Given the description of an element on the screen output the (x, y) to click on. 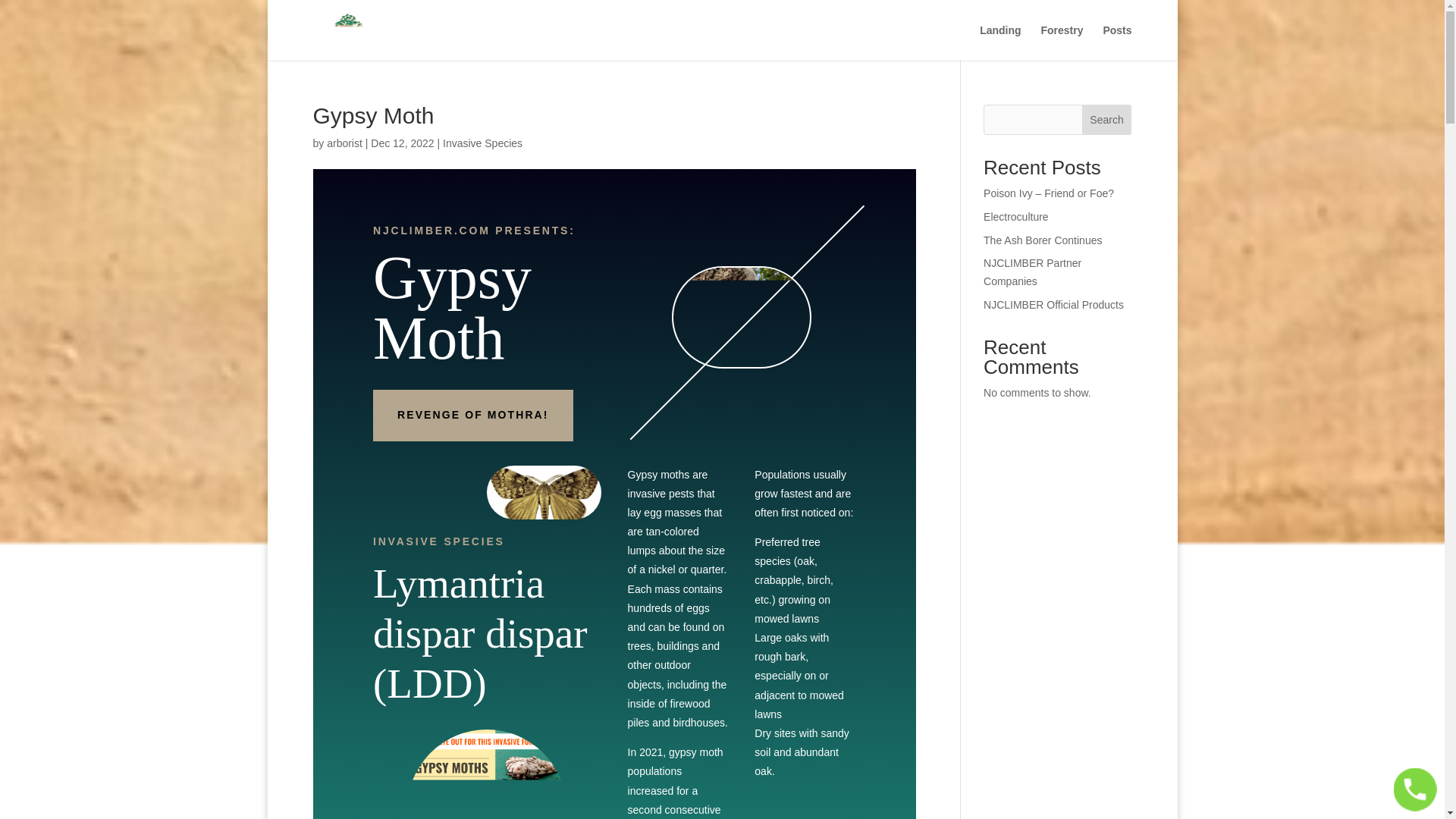
Forestry (1062, 42)
NJCLIMBER Official Products (1054, 304)
Landing (999, 42)
Search (1106, 119)
NJCLIMBER Partner Companies (1032, 272)
Invasive Species (482, 143)
Posts by arborist (344, 143)
Electroculture (1016, 216)
arborist (344, 143)
REVENGE OF MOTHRA! (472, 415)
The Ash Borer Continues (1043, 240)
